Given the description of an element on the screen output the (x, y) to click on. 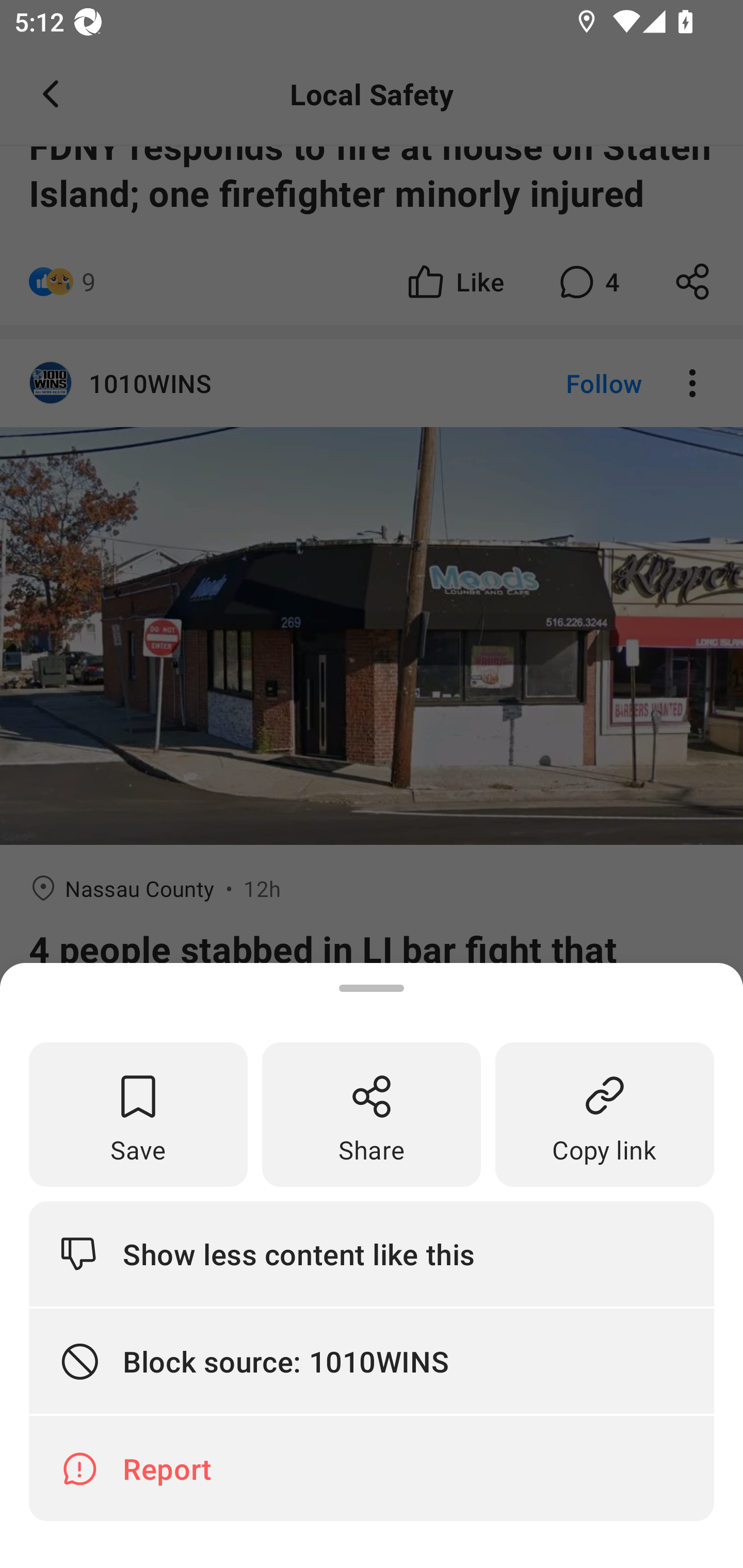
Save (137, 1114)
Share (371, 1114)
Copy link (604, 1114)
Show less content like this (371, 1253)
Block source: 1010WINS (371, 1361)
Report (371, 1467)
